Given the description of an element on the screen output the (x, y) to click on. 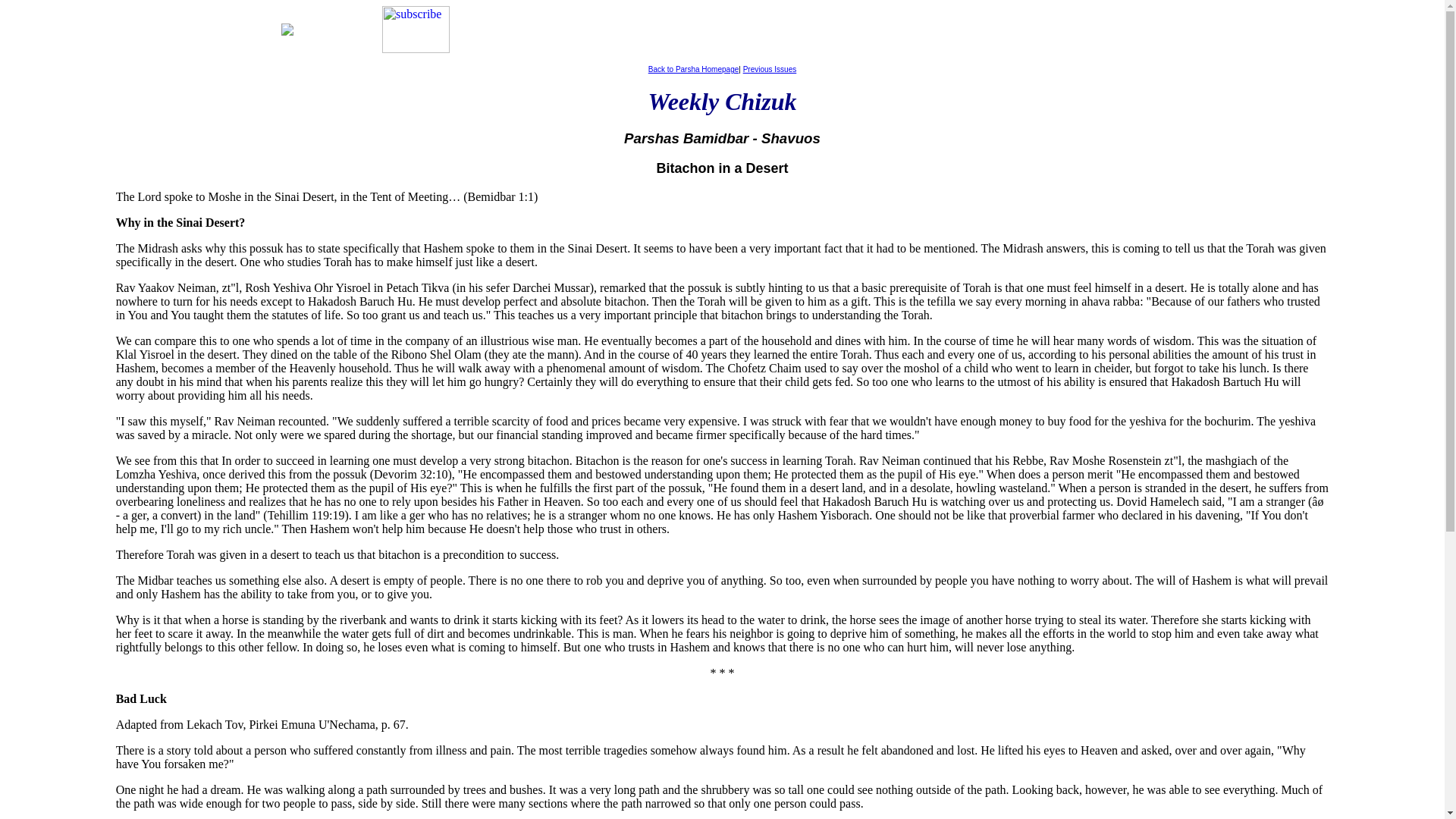
Back to Parsha Homepage (693, 69)
Previous Issues (769, 69)
